Given the description of an element on the screen output the (x, y) to click on. 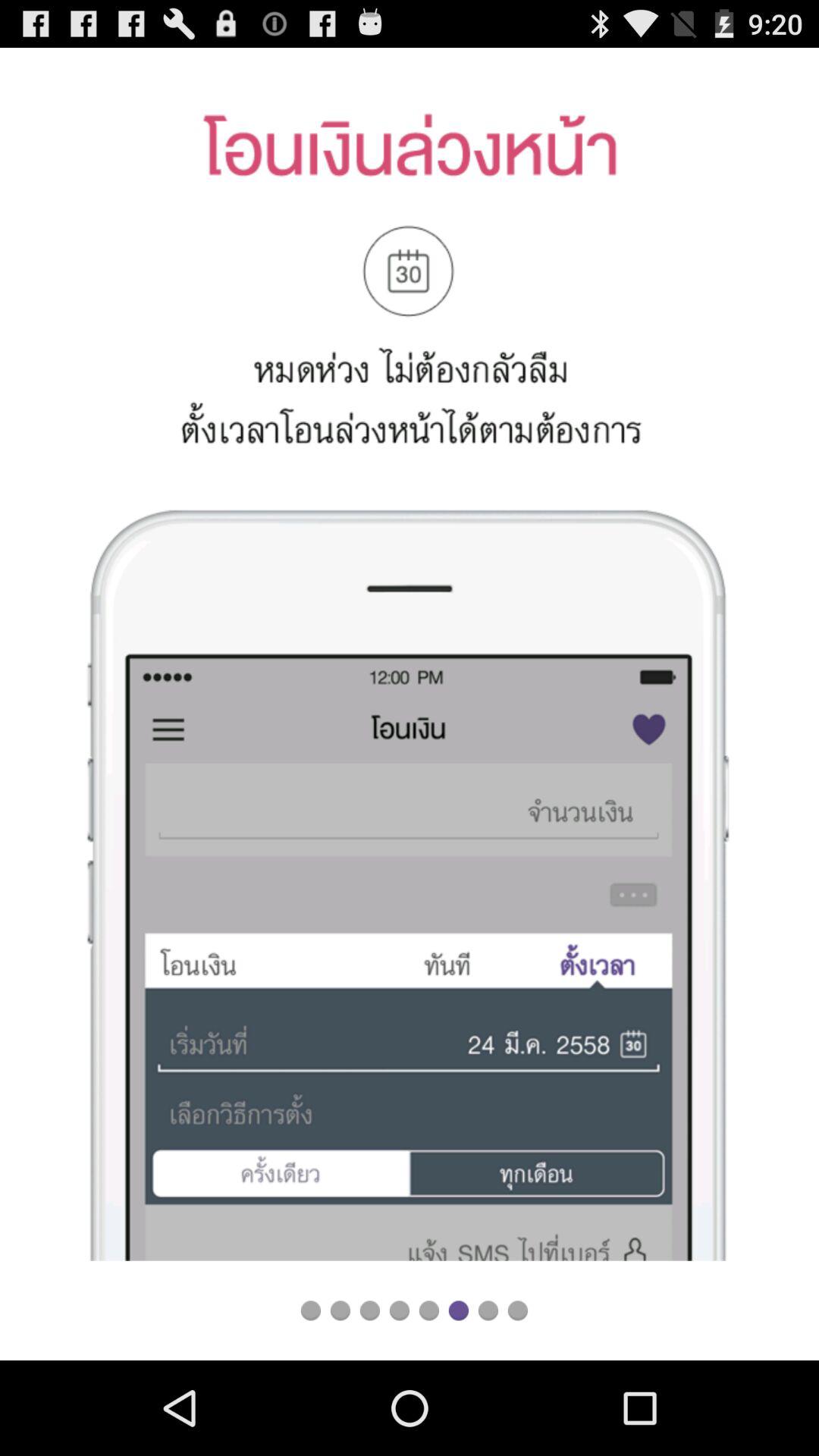
go right to next slide (488, 1310)
